Given the description of an element on the screen output the (x, y) to click on. 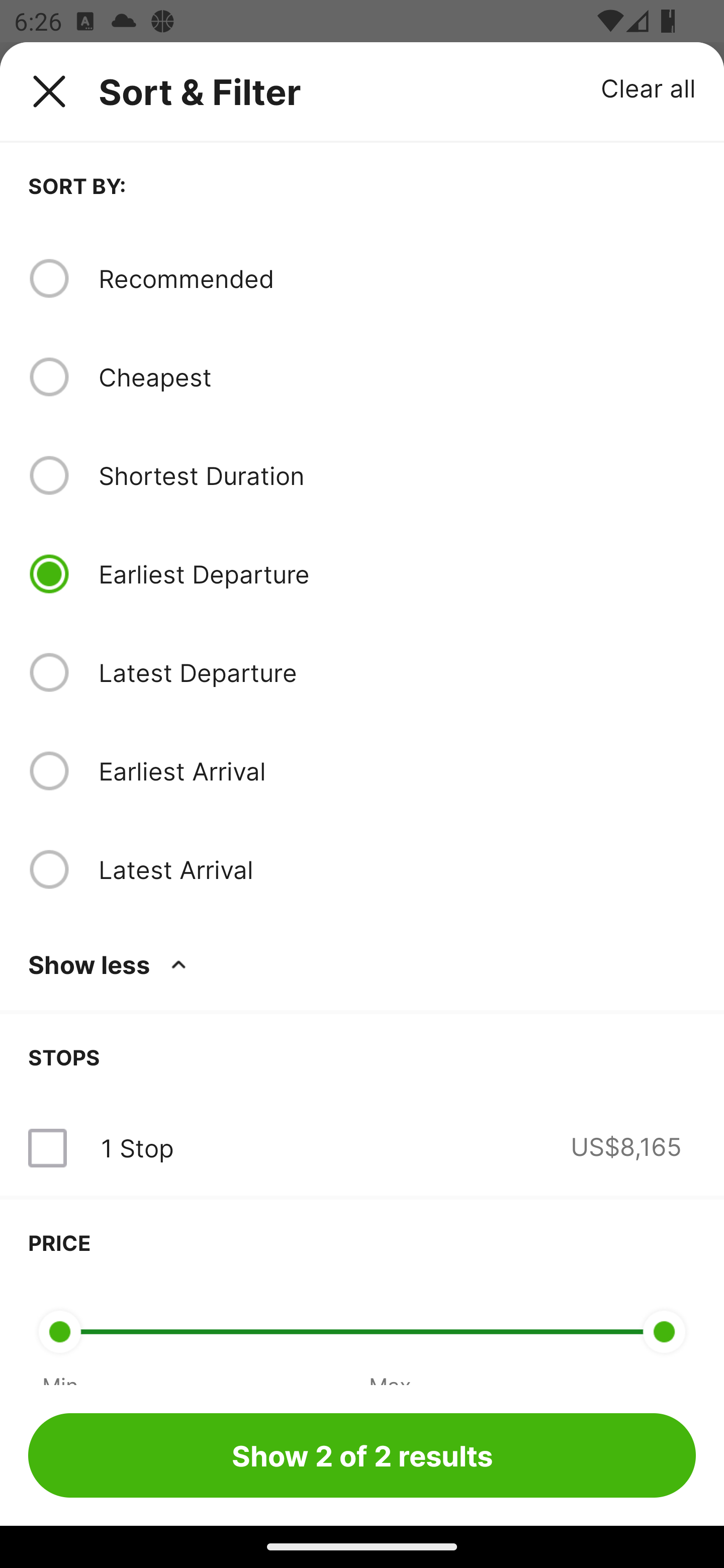
Clear all (648, 87)
Recommended  (396, 278)
Cheapest (396, 377)
Shortest Duration (396, 474)
Earliest Departure (396, 573)
Latest Departure (396, 672)
Earliest Arrival (396, 770)
Latest Arrival (396, 869)
Show less (110, 964)
1 Stop US$8,165 (362, 1147)
1 Stop (136, 1147)
Show 2 of 2 results (361, 1454)
